Given the description of an element on the screen output the (x, y) to click on. 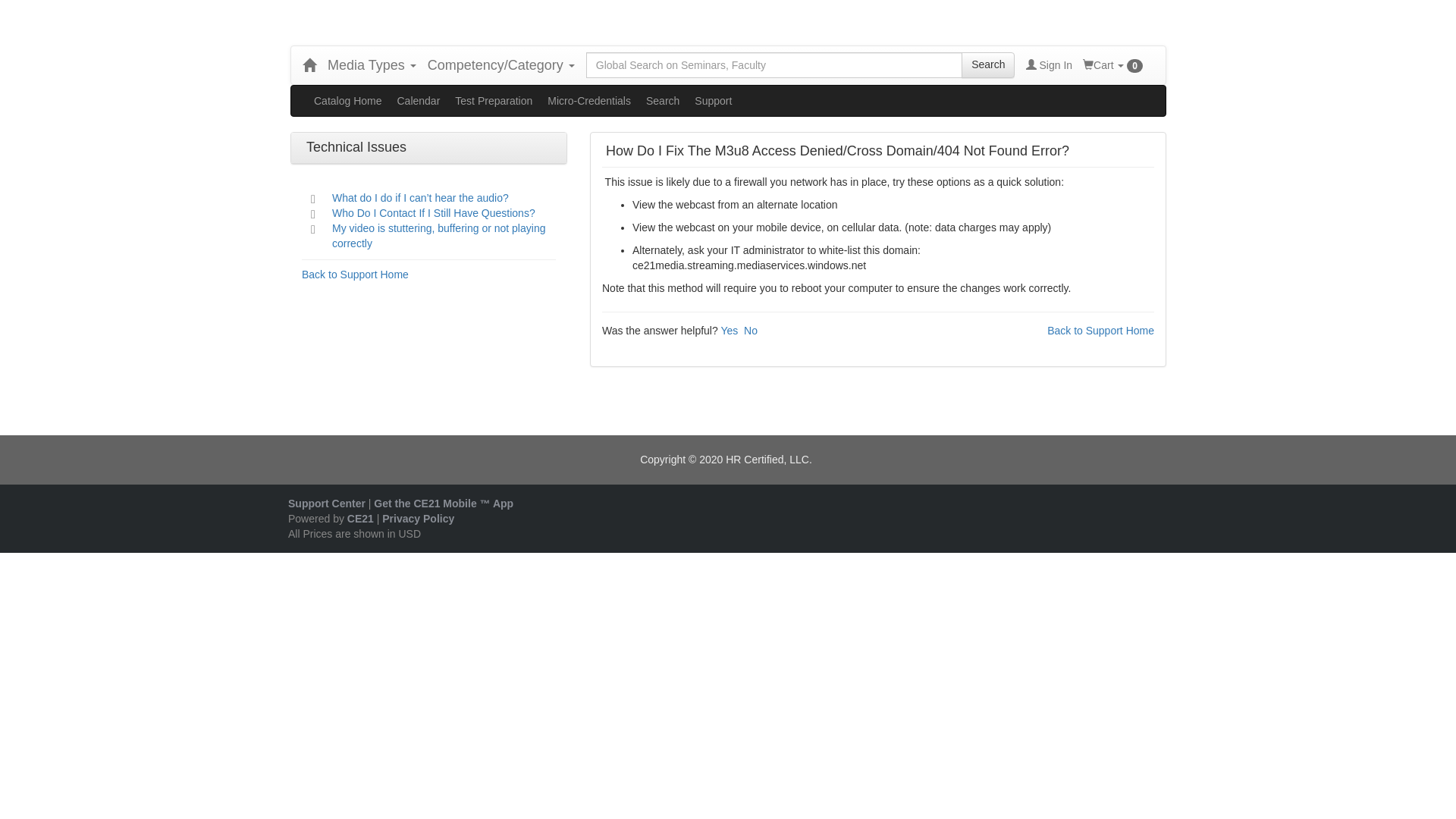
Sign In (1048, 64)
Media Types (371, 64)
Search (987, 64)
Cart  0 (1112, 64)
Go to Home Page (309, 64)
